Given the description of an element on the screen output the (x, y) to click on. 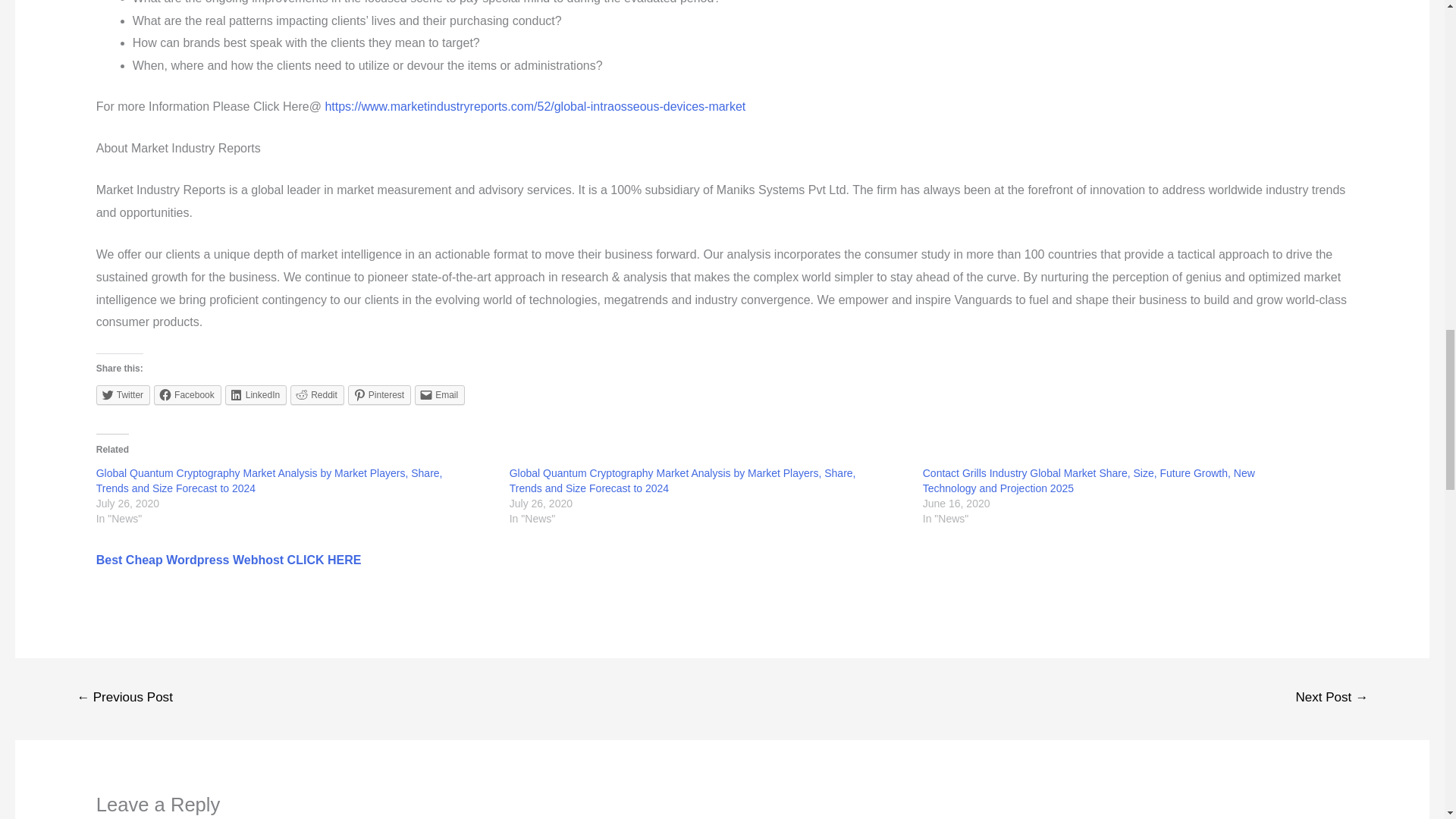
Click to share on Reddit (316, 394)
Reddit (316, 394)
Twitter (122, 394)
Click to email a link to a friend (439, 394)
Pinterest (378, 394)
LinkedIn (255, 394)
